Given the description of an element on the screen output the (x, y) to click on. 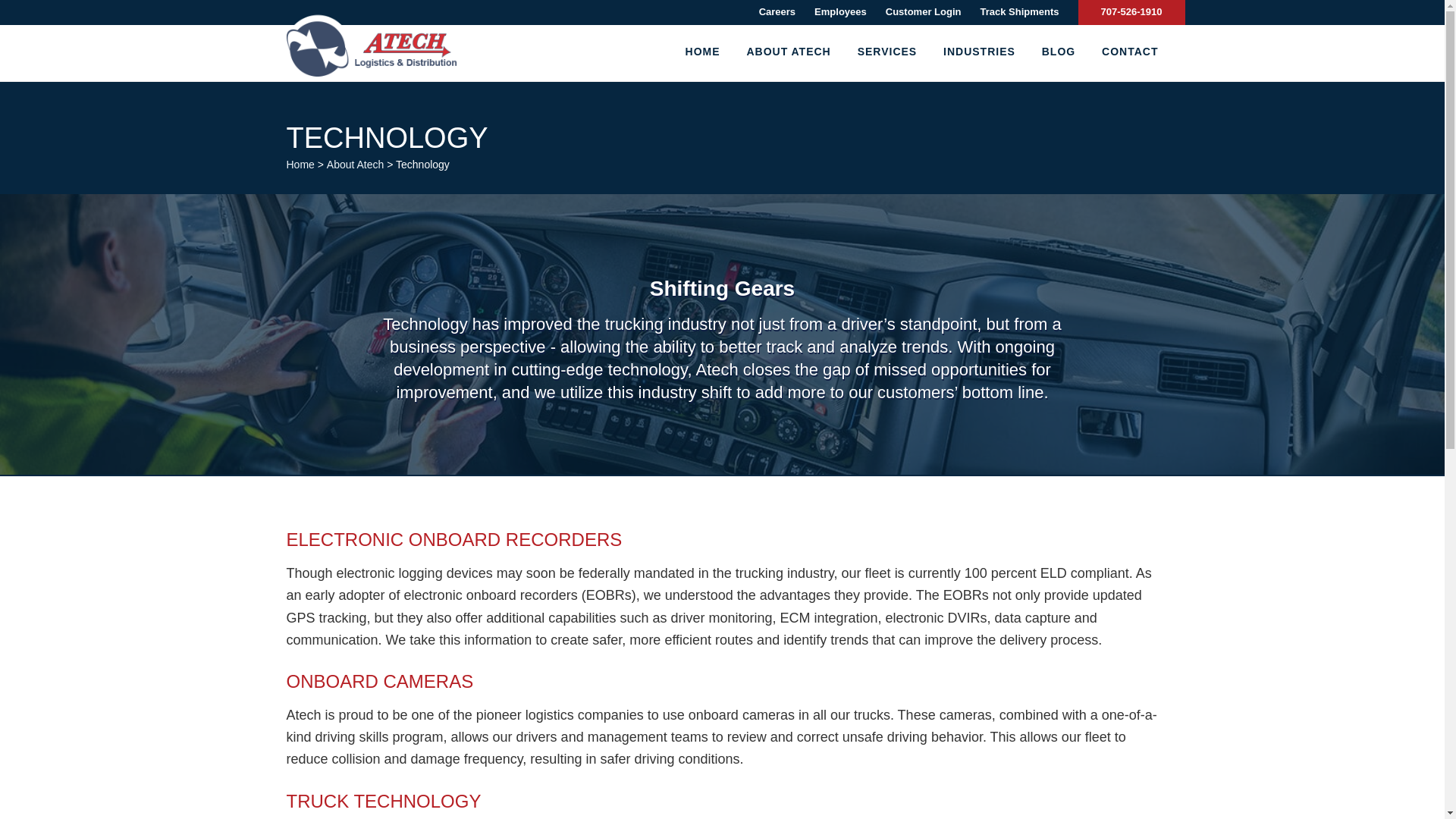
Employees (839, 11)
BLOG (1058, 51)
CONTACT (1123, 51)
Customer Login (922, 11)
Home (300, 164)
SERVICES (886, 51)
Track Shipments (1018, 11)
INDUSTRIES (978, 51)
About Atech (355, 164)
HOME (703, 51)
ABOUT ATECH (788, 51)
Careers (776, 11)
707-526-1910 (1130, 11)
